Given the description of an element on the screen output the (x, y) to click on. 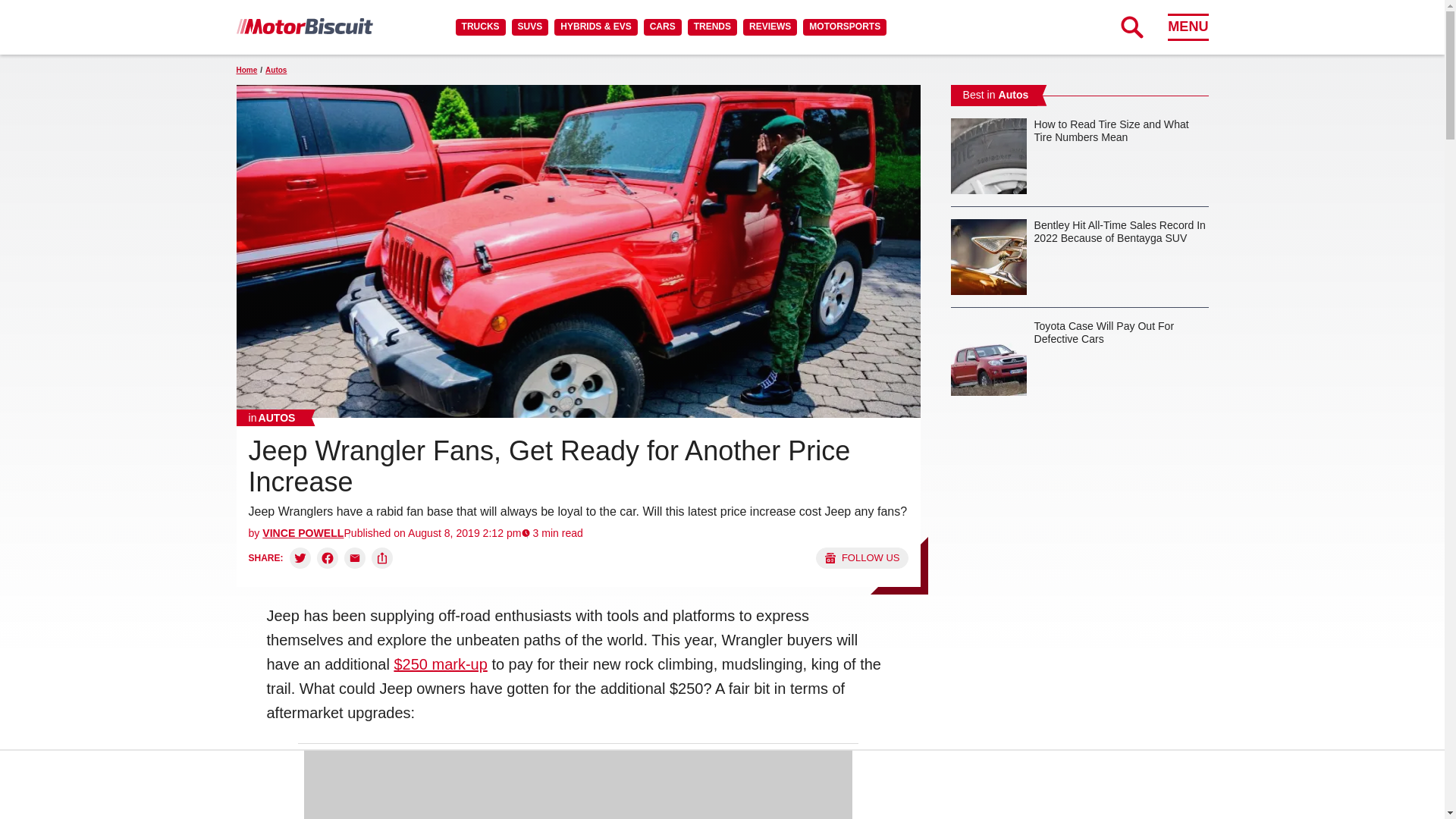
MENU (1187, 26)
TRENDS (711, 26)
MotorBiscuit (303, 26)
SUVS (530, 26)
REVIEWS (769, 26)
Autos (271, 417)
MOTORSPORTS (844, 26)
Expand Search (1131, 26)
Follow us on Google News (861, 557)
TRUCKS (480, 26)
Copy link and share:  (382, 557)
CARS (662, 26)
